Given the description of an element on the screen output the (x, y) to click on. 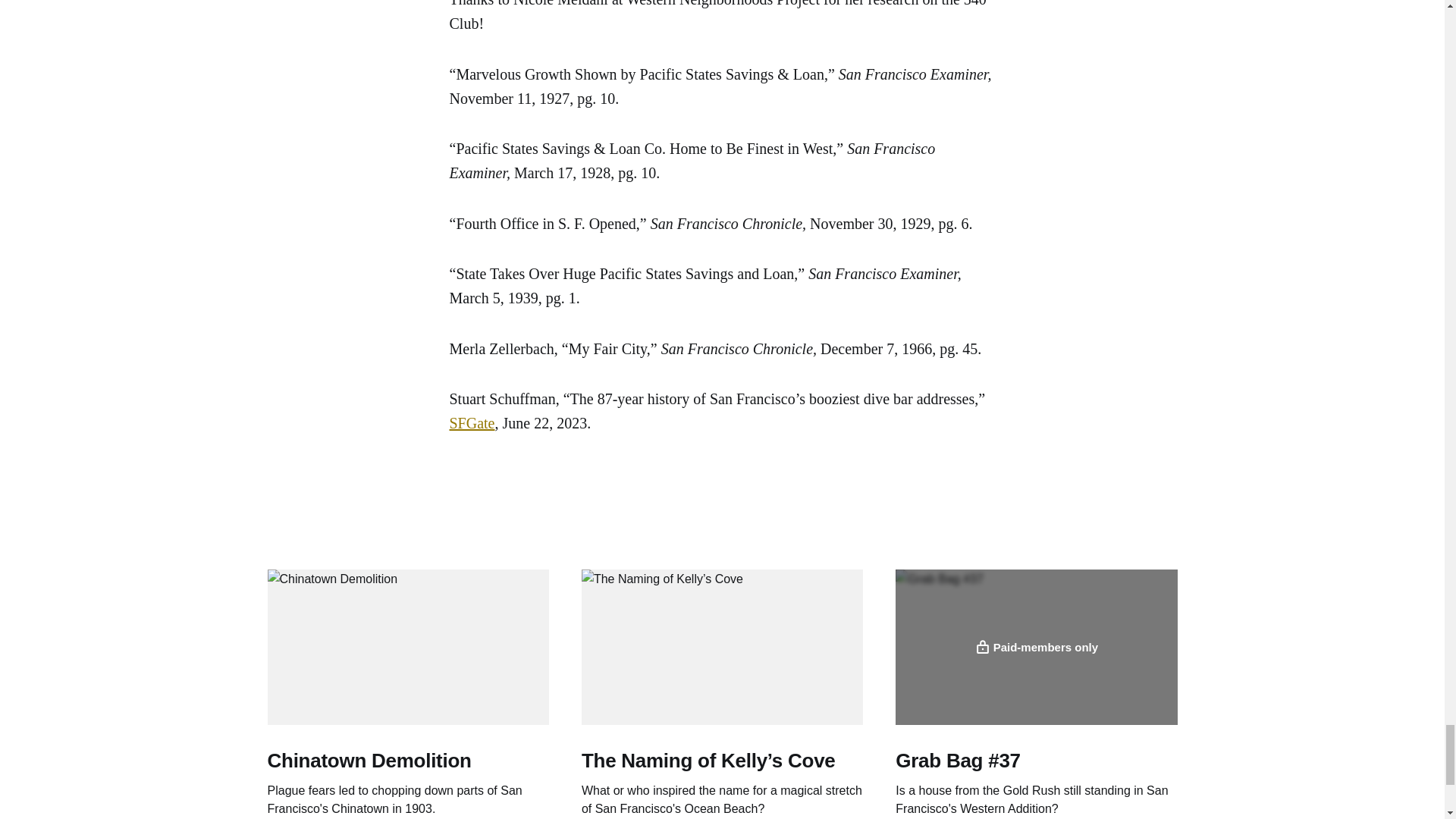
SFGate (471, 422)
Paid-members only (1035, 646)
